Given the description of an element on the screen output the (x, y) to click on. 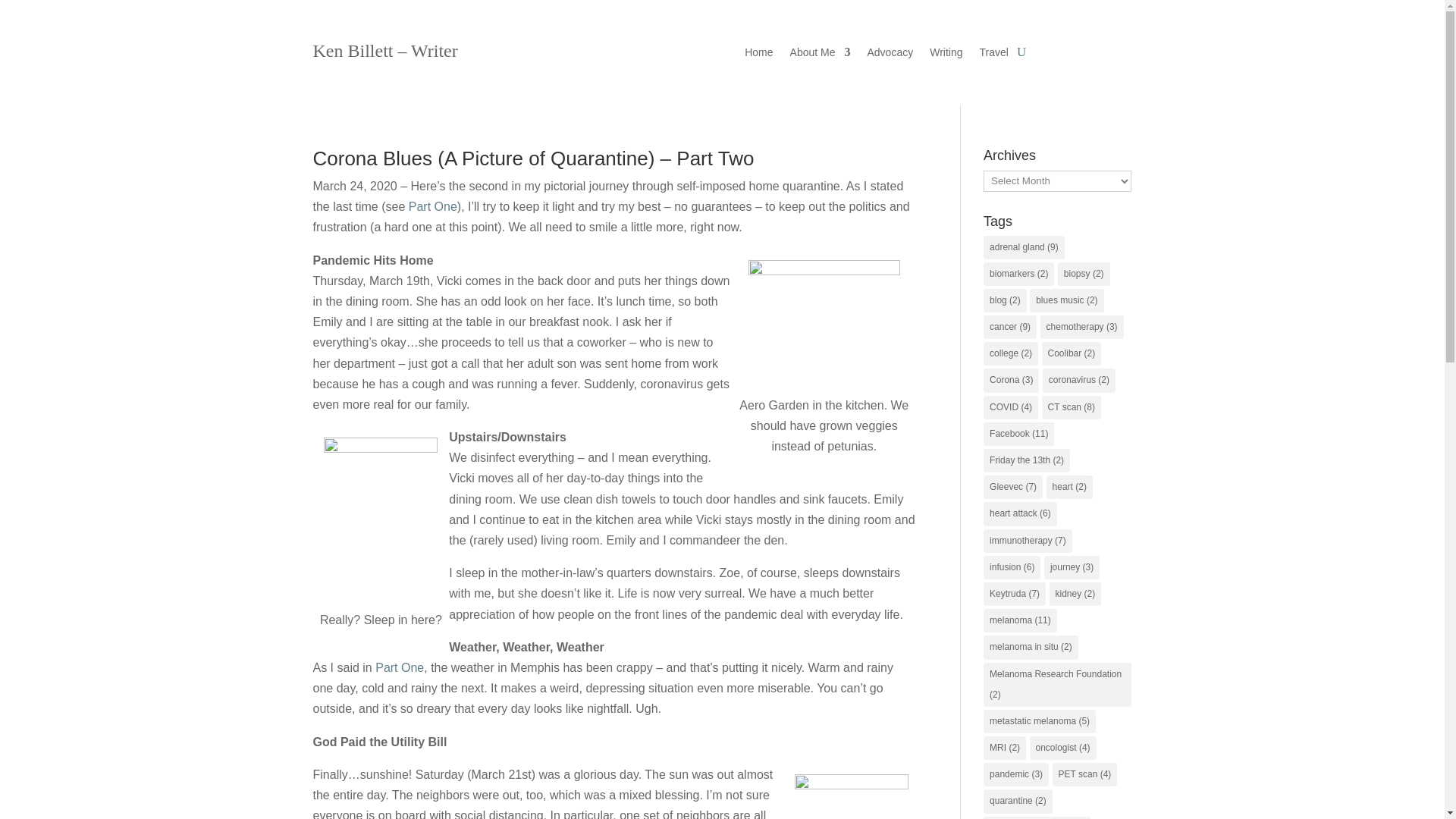
Home (758, 54)
Part One (433, 205)
Writing (946, 54)
Part One (399, 667)
About Me (820, 54)
Travel (994, 54)
Advocacy (889, 54)
